Given the description of an element on the screen output the (x, y) to click on. 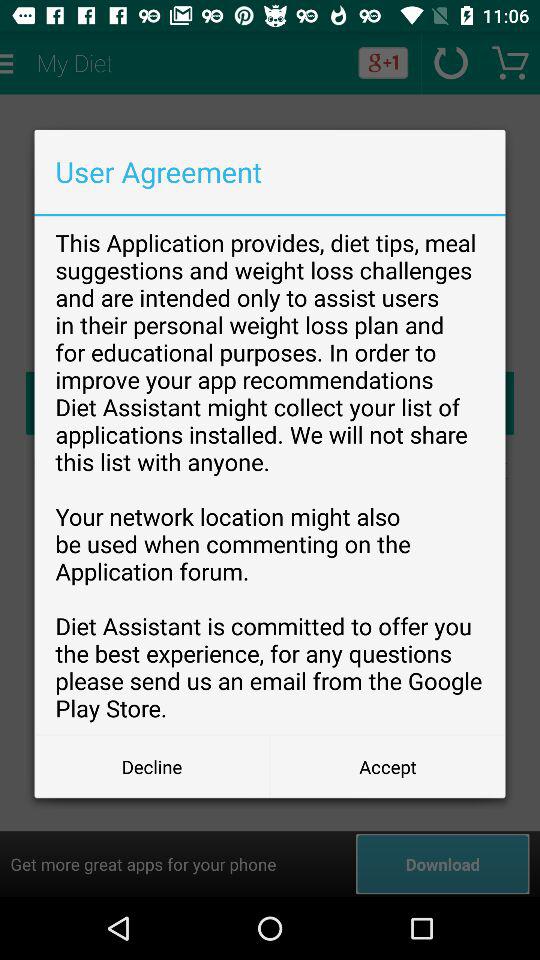
click the item next to the decline button (387, 766)
